Given the description of an element on the screen output the (x, y) to click on. 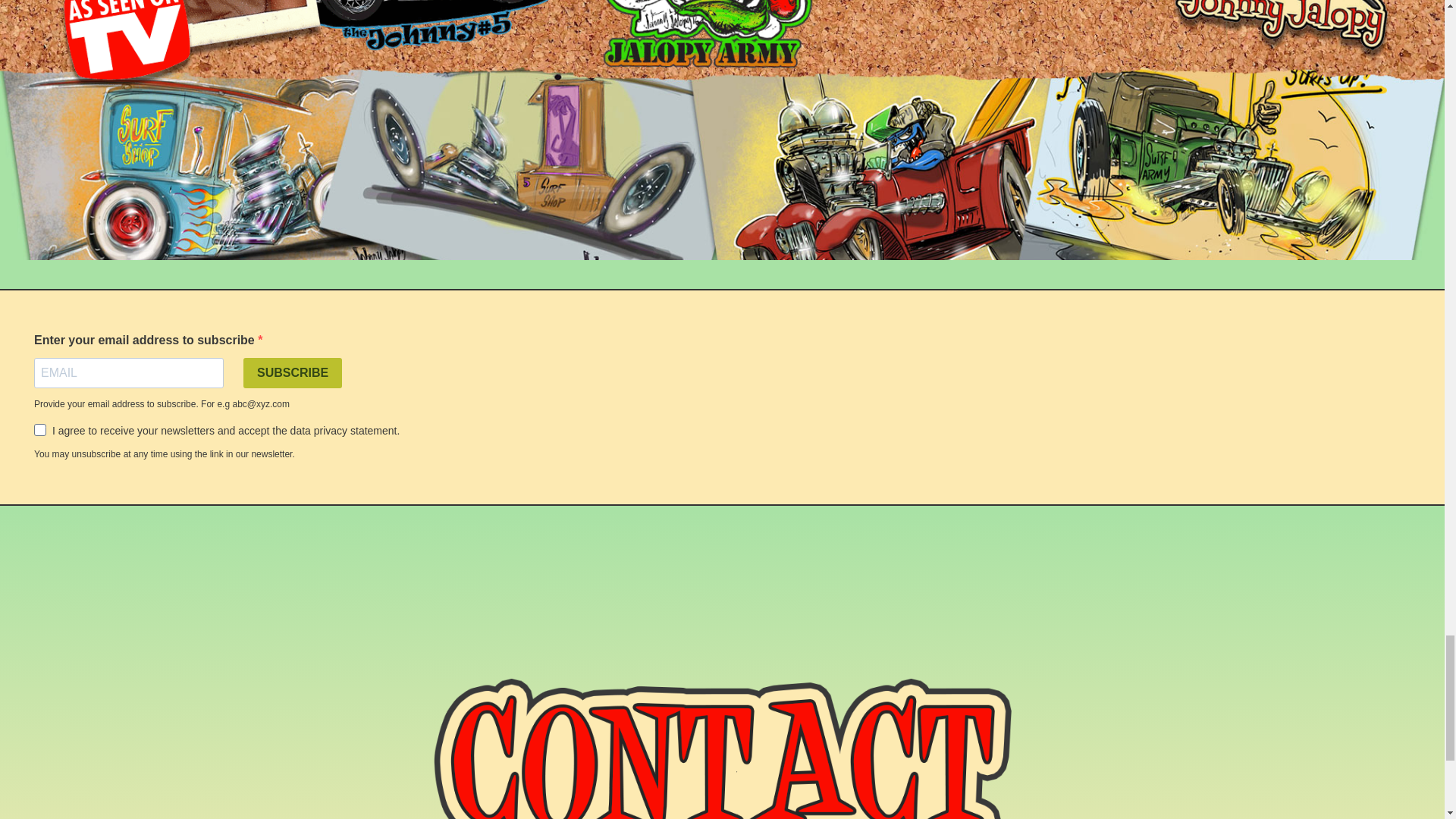
SUBSCRIBE (292, 372)
